Given the description of an element on the screen output the (x, y) to click on. 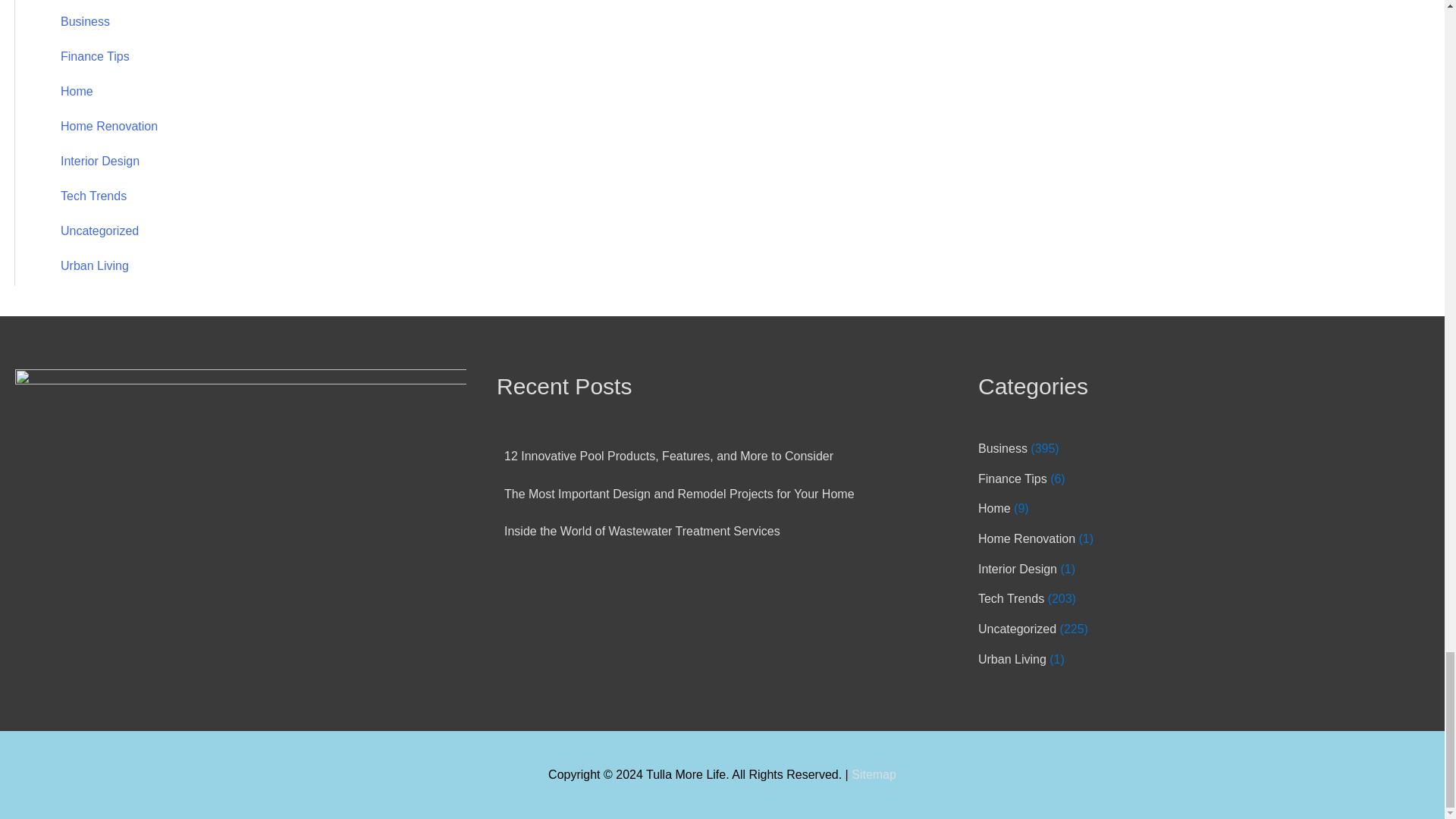
Inside the World of Wastewater Treatment Services (641, 530)
Home Renovation (1026, 538)
Finance Tips (1012, 478)
The Most Important Design and Remodel Projects for Your Home (678, 493)
Home Renovation (109, 125)
Finance Tips (95, 56)
Interior Design (100, 160)
Tech Trends (93, 195)
Home (994, 508)
12 Innovative Pool Products, Features, and More to Consider (667, 455)
